Given the description of an element on the screen output the (x, y) to click on. 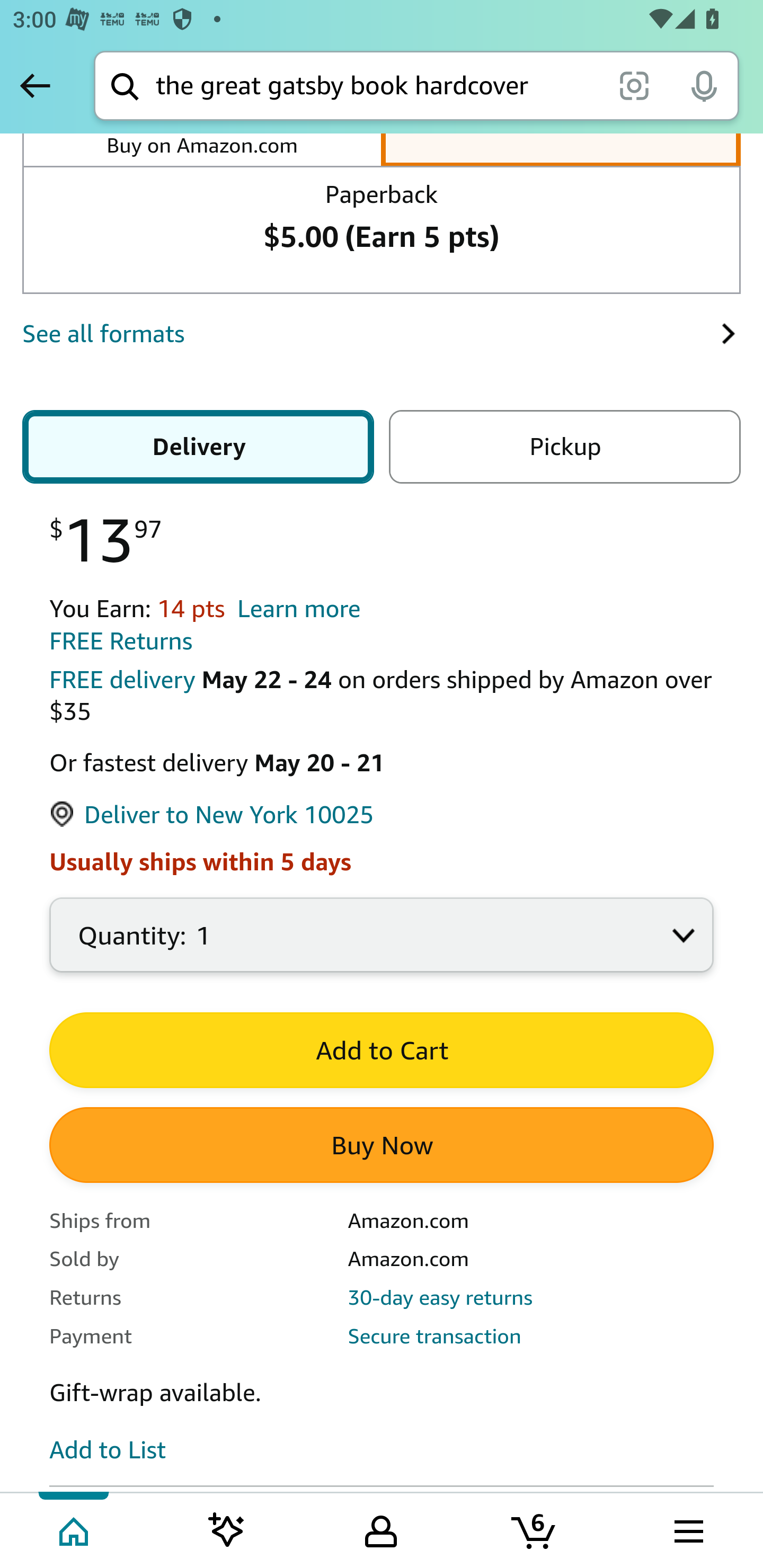
Back (35, 85)
scan it (633, 85)
See all formats (371, 335)
Delivery (201, 448)
Pickup (560, 448)
Learn more (298, 610)
FREE Returns (121, 642)
FREE delivery (122, 681)
Deliver to New York 10025‌ (212, 816)
1 (381, 946)
Add to Cart (381, 1052)
Buy Now (381, 1145)
Add to List (108, 1451)
Home Tab 1 of 5 (75, 1529)
Inspire feed Tab 2 of 5 (227, 1529)
Your Amazon.com Tab 3 of 5 (380, 1529)
Cart 6 items Tab 4 of 5 6 (534, 1529)
Browse menu Tab 5 of 5 (687, 1529)
